Given the description of an element on the screen output the (x, y) to click on. 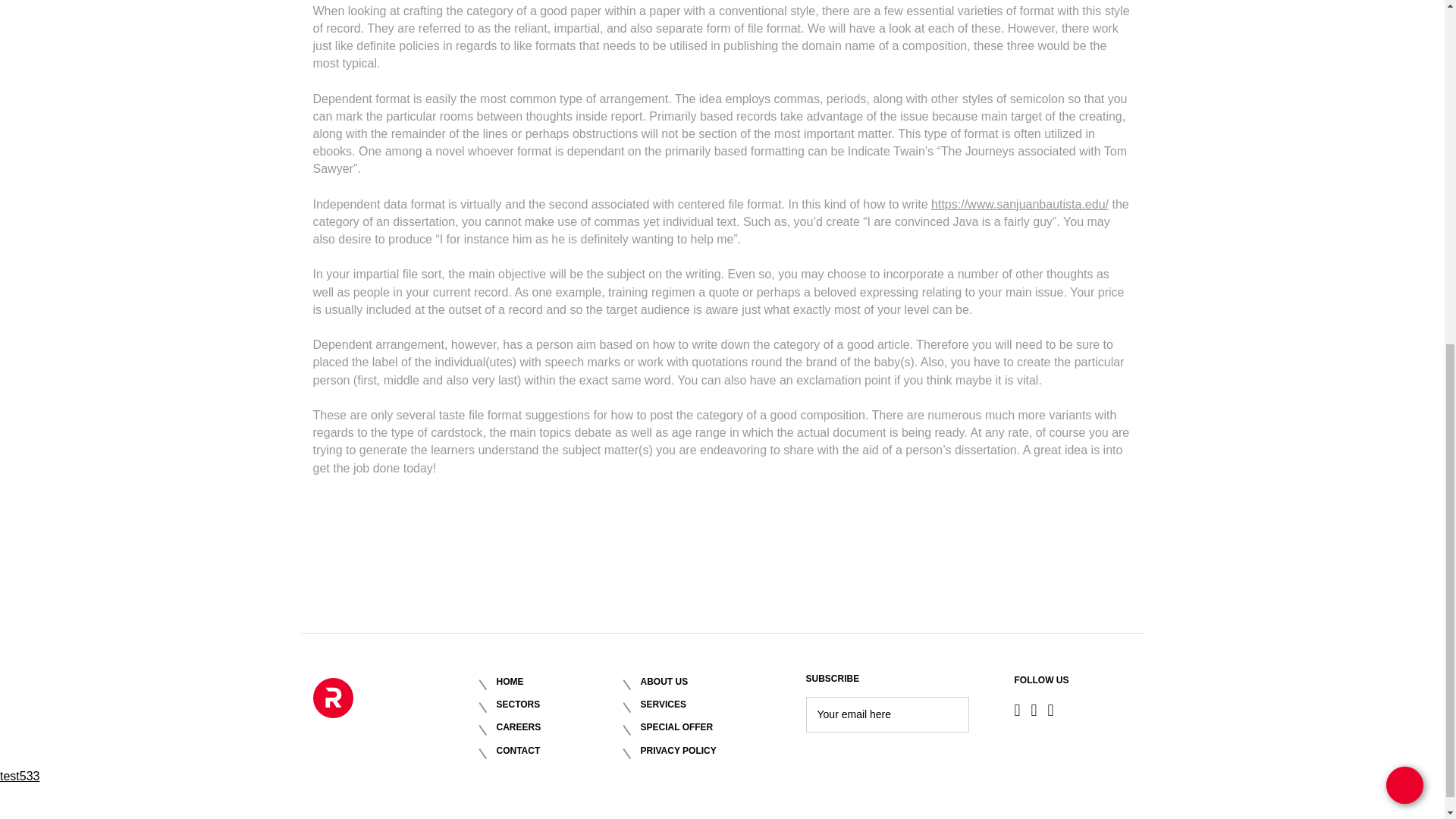
ABOUT US (703, 681)
CAREERS (559, 727)
SERVICES (703, 704)
CONTACT (559, 750)
SECTORS (559, 704)
SPECIAL OFFER (703, 727)
HOME (559, 681)
PRIVACY POLICY (703, 750)
test533 (19, 775)
